Given the description of an element on the screen output the (x, y) to click on. 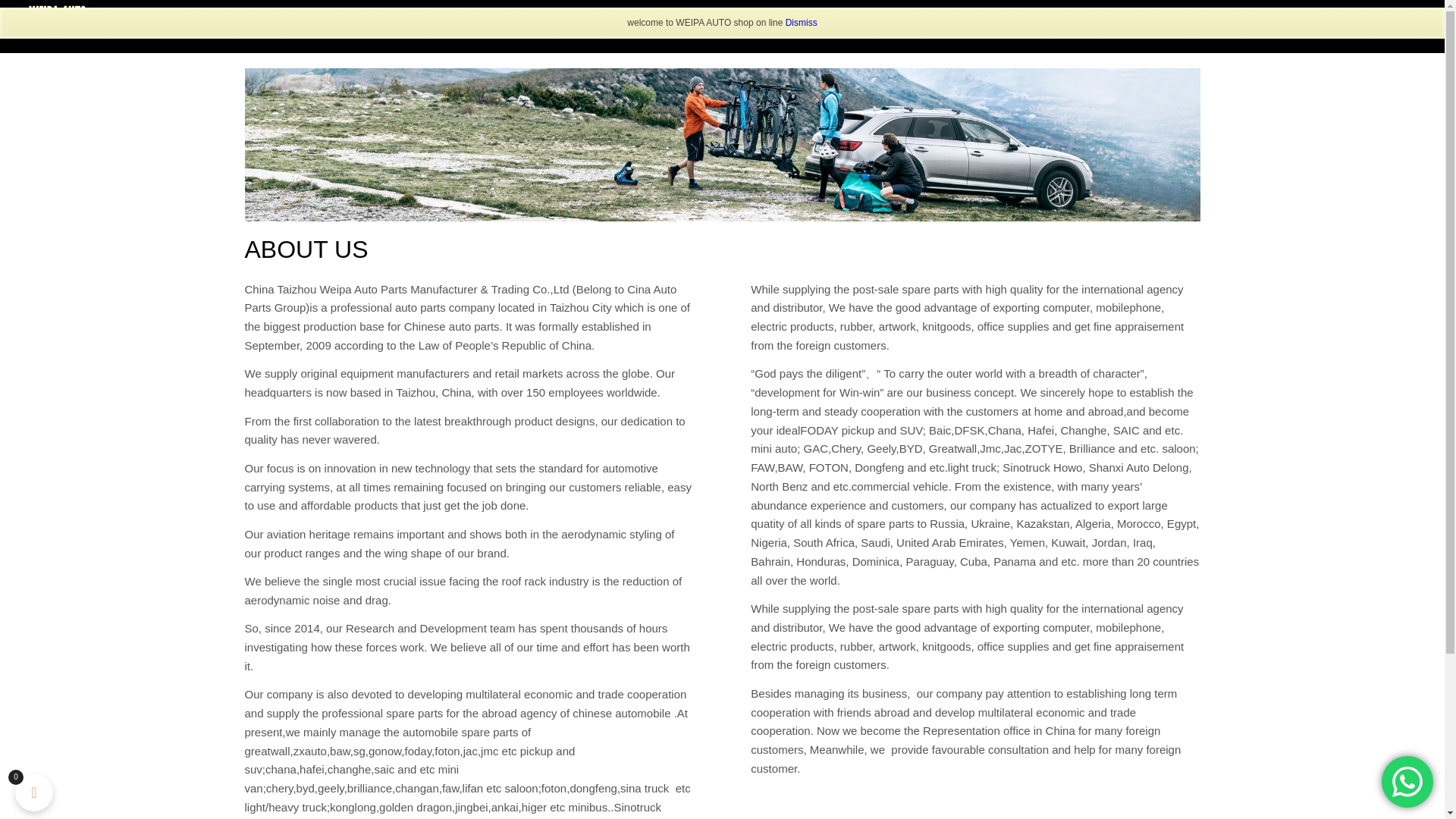
WhatsApp us (1406, 781)
CONTACT US (1273, 13)
PRODUCTS (1180, 13)
Dismiss (801, 22)
ABOUT US (1096, 13)
HOME (1026, 13)
My account (1404, 12)
BLOG (1348, 13)
